Given the description of an element on the screen output the (x, y) to click on. 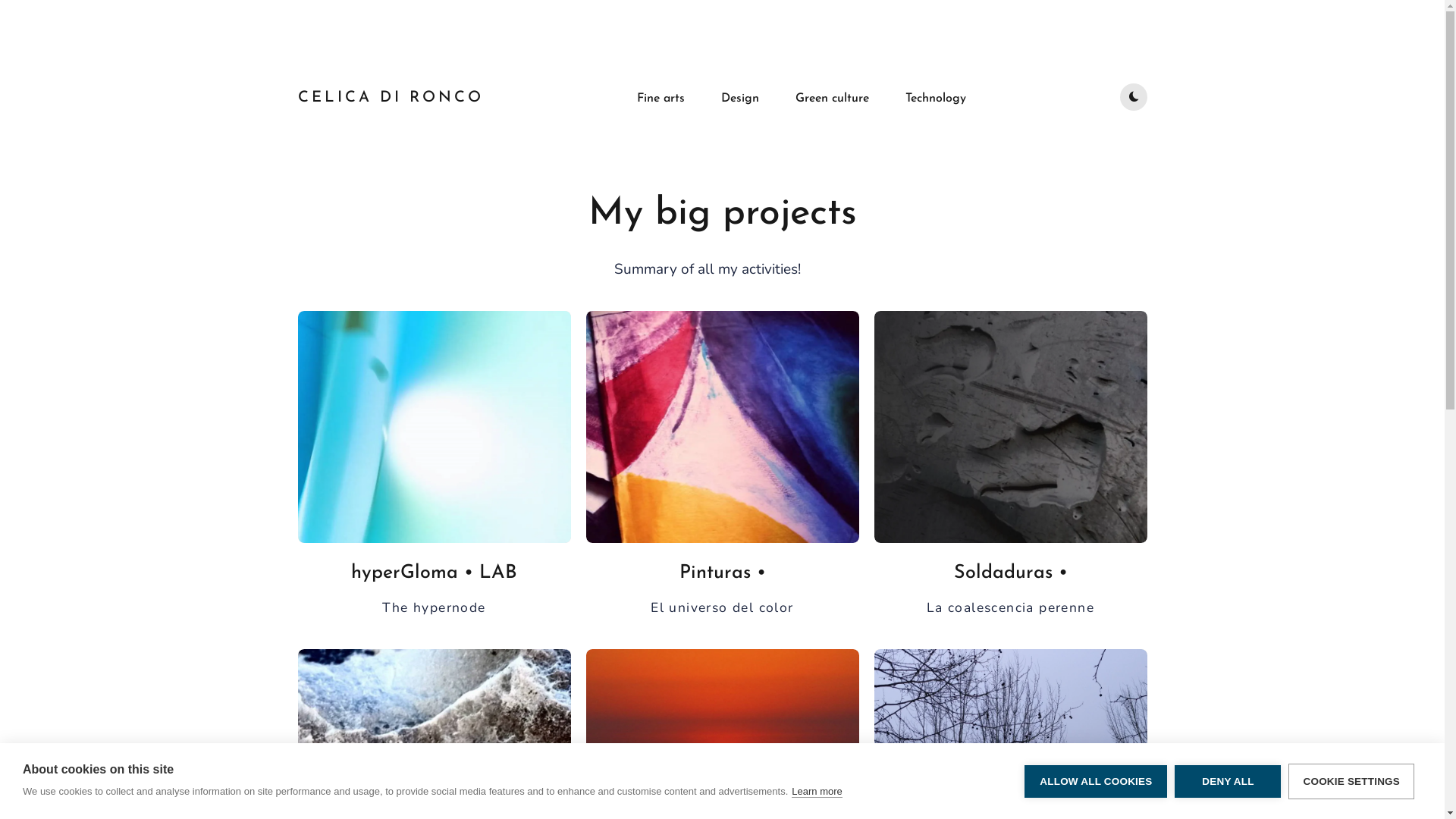
Fine arts Element type: text (660, 98)
DENY ALL Element type: text (1227, 780)
Learn more Element type: text (816, 791)
CELICA DI RONCO Element type: text (390, 97)
Technology Element type: text (935, 98)
Green culture Element type: text (832, 98)
Top Element type: hover (1418, 791)
COOKIE SETTINGS Element type: text (1351, 780)
Design Element type: text (740, 98)
ALLOW ALL COOKIES Element type: text (1095, 780)
Enable dark mode Element type: hover (1132, 96)
